Given the description of an element on the screen output the (x, y) to click on. 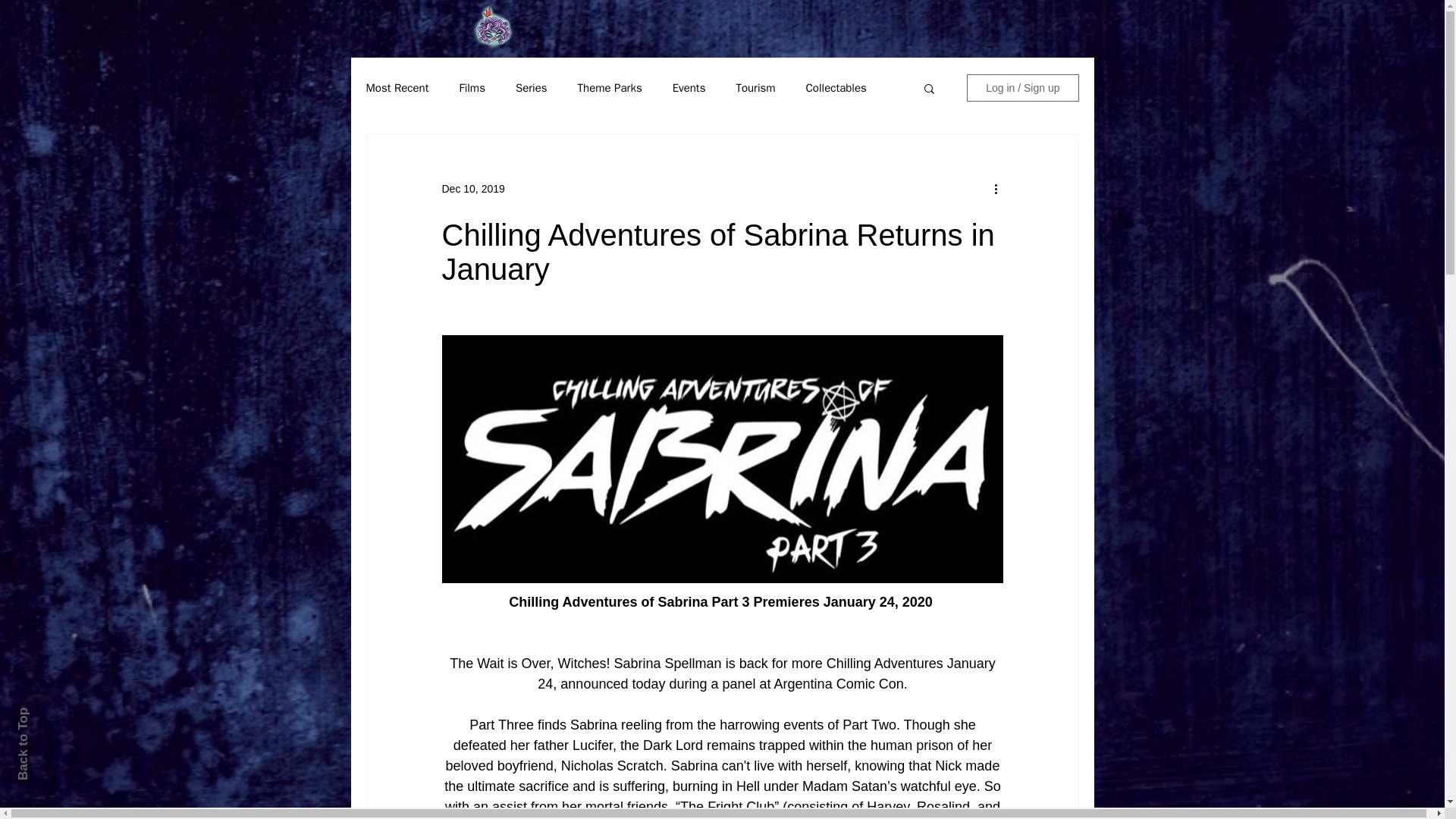
Theme Parks (610, 87)
Tourism (754, 87)
Events (689, 87)
Most Recent (396, 87)
Series (531, 87)
Dec 10, 2019 (472, 187)
Films (471, 87)
Collectables (836, 87)
